Given the description of an element on the screen output the (x, y) to click on. 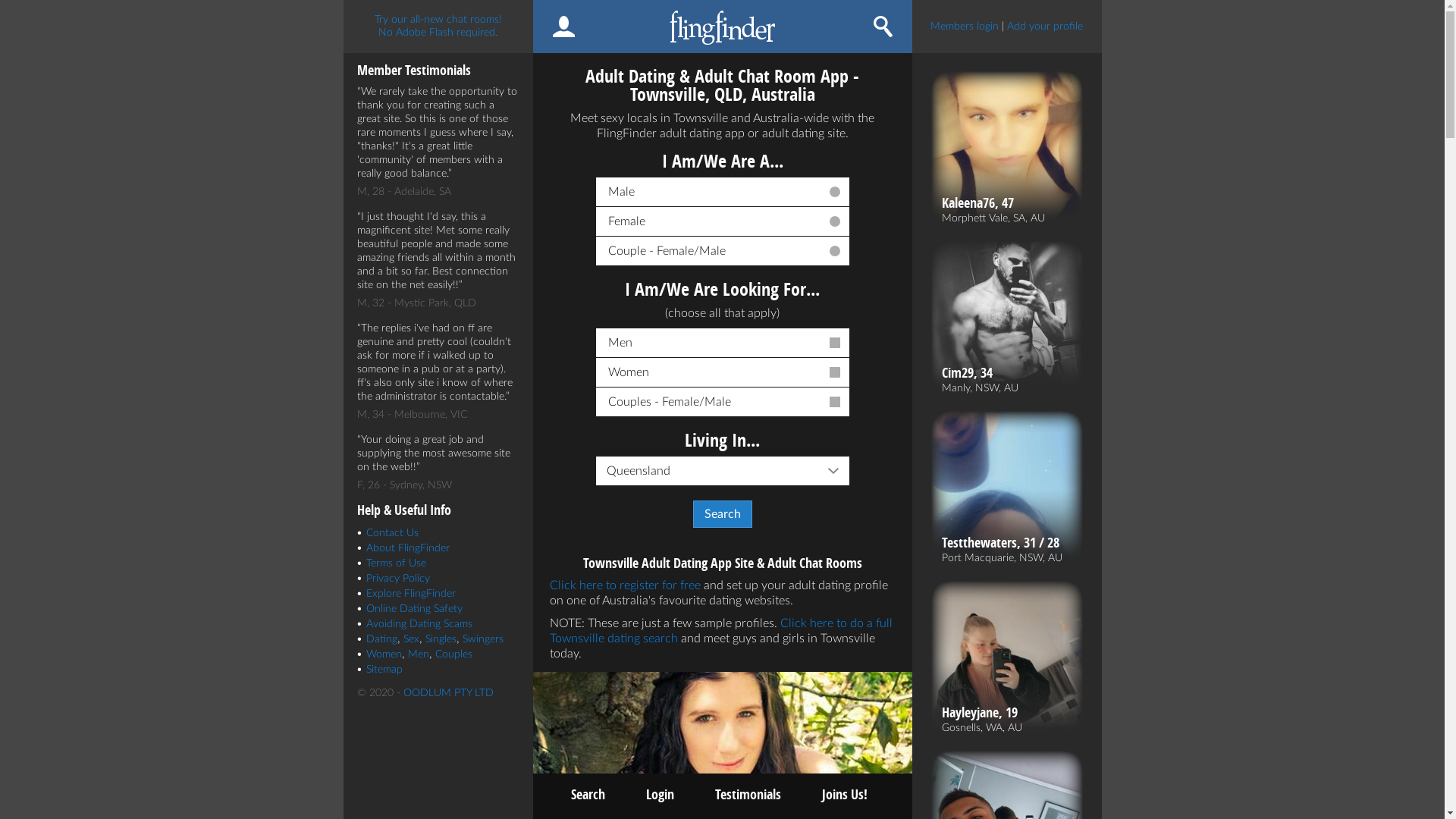
Login Element type: text (660, 793)
Couple - Female/Male Element type: text (722, 251)
Testimonials Element type: text (747, 793)
Joins Us! Element type: text (844, 793)
Avoiding Dating Scams Element type: text (418, 623)
Men Element type: text (722, 342)
Privacy Policy Element type: text (397, 578)
Sitemap Element type: text (383, 669)
Swingers Element type: text (482, 638)
Men Element type: text (418, 654)
Women Element type: text (722, 372)
Members login Element type: text (964, 26)
Kaleena76, 47 Element type: text (992, 203)
Women Element type: text (383, 654)
Terms of Use Element type: text (395, 563)
Cim29, 34 Element type: text (979, 373)
OODLUM PTY LTD Element type: text (448, 692)
Male Element type: text (722, 192)
Search Element type: text (722, 513)
Add your profile Element type: text (1044, 26)
Sex Element type: text (411, 638)
Couples Element type: text (453, 654)
About FlingFinder Element type: text (406, 547)
Online Dating Safety Element type: text (413, 608)
Explore FlingFinder Element type: text (410, 593)
Couples - Female/Male Element type: text (722, 402)
Try our all-new chat rooms!
No Adobe Flash required. Element type: text (437, 26)
Testthewaters, 31 / 28 Element type: text (1001, 542)
Contact Us Element type: text (391, 532)
Dating Element type: text (380, 638)
Female Element type: text (722, 221)
Member Search Element type: hover (882, 26)
Search Element type: text (587, 793)
Singles Element type: text (439, 638)
Hayleyjane, 19 Element type: text (981, 712)
Click here to do a full Townsville dating search Element type: text (720, 630)
Click here to register for free Element type: text (624, 585)
